Given the description of an element on the screen output the (x, y) to click on. 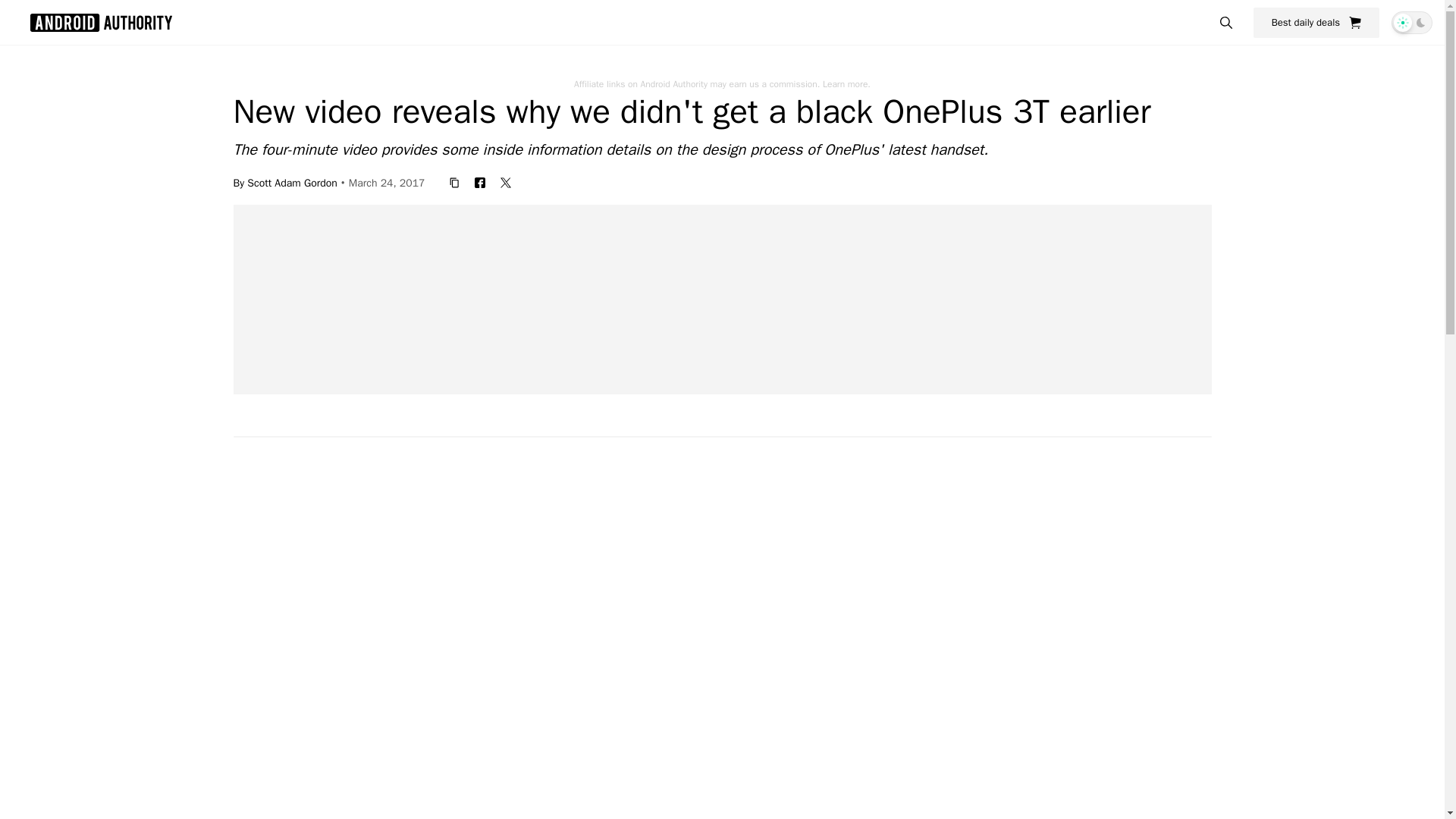
Scott Adam Gordon (292, 182)
Best daily deals (1315, 22)
twitter (505, 182)
Learn more. (846, 83)
facebook (480, 182)
